Given the description of an element on the screen output the (x, y) to click on. 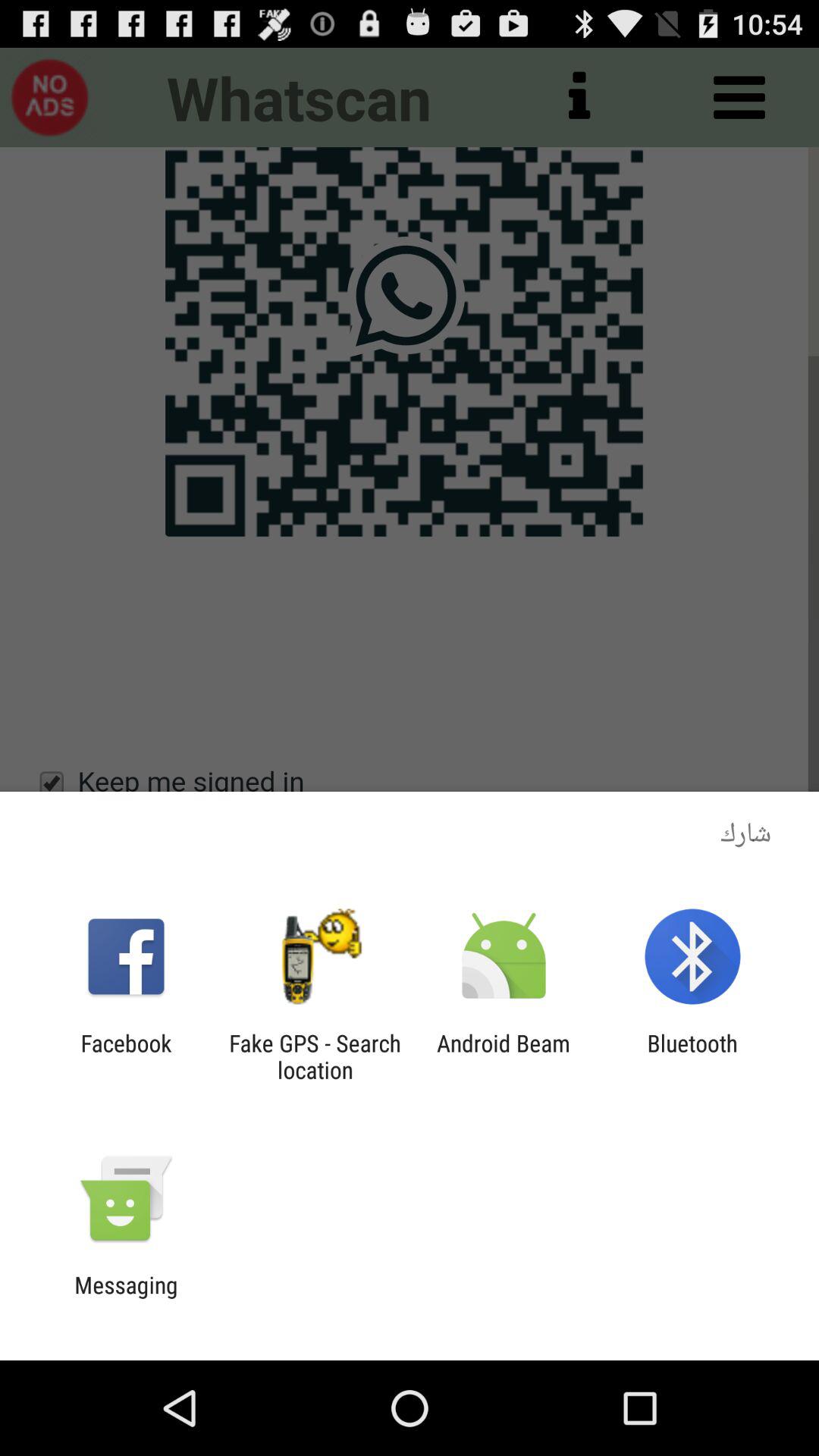
jump until the facebook item (125, 1056)
